Given the description of an element on the screen output the (x, y) to click on. 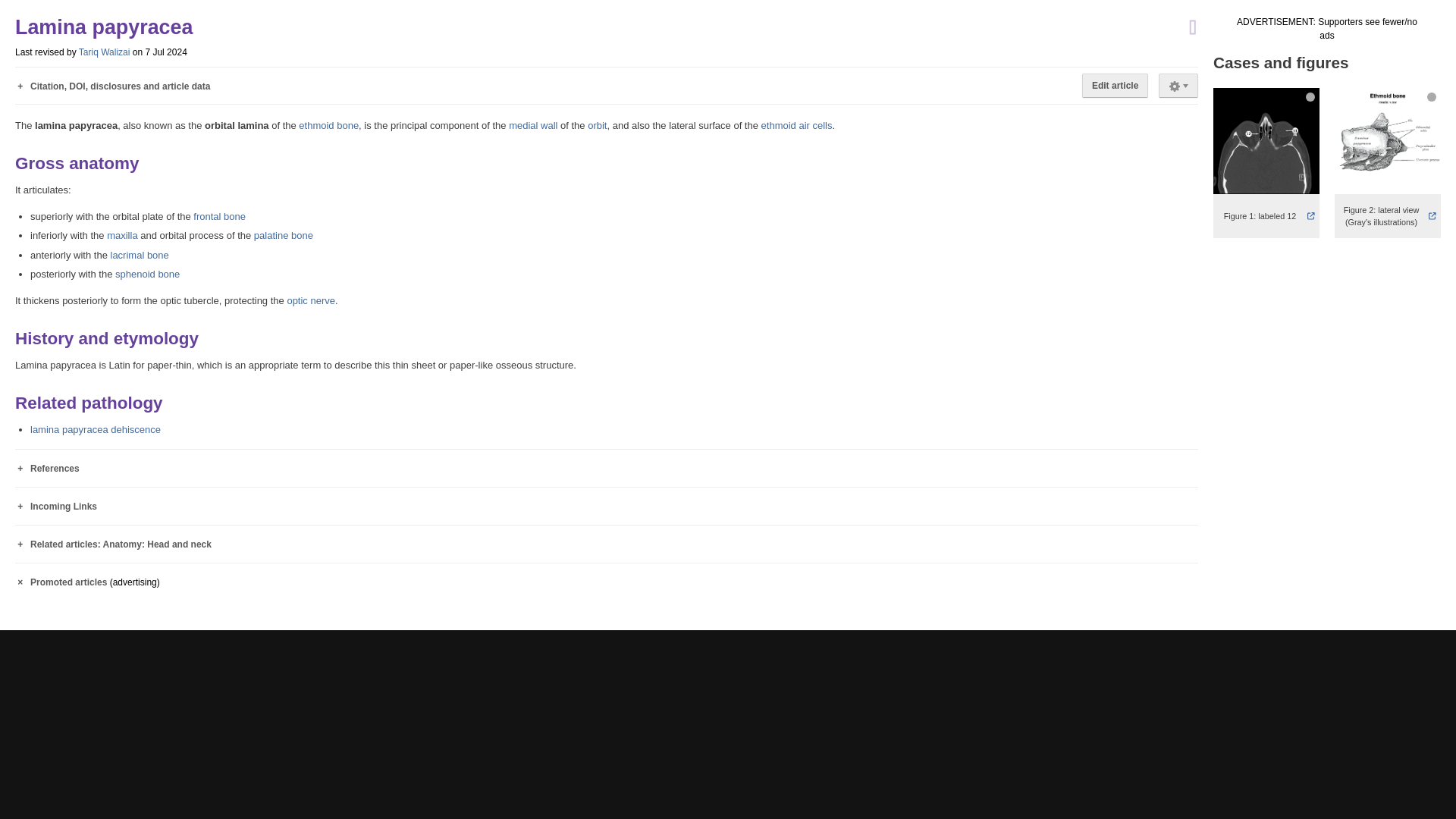
maxilla (121, 235)
Tariq Walizai (104, 51)
sphenoid bone (147, 274)
palatine bone (283, 235)
lacrimal bone (139, 255)
frontal bone (219, 215)
ethmoid bone (328, 125)
Edit article (1114, 85)
medial wall (532, 125)
ethmoid air cells (796, 125)
